Given the description of an element on the screen output the (x, y) to click on. 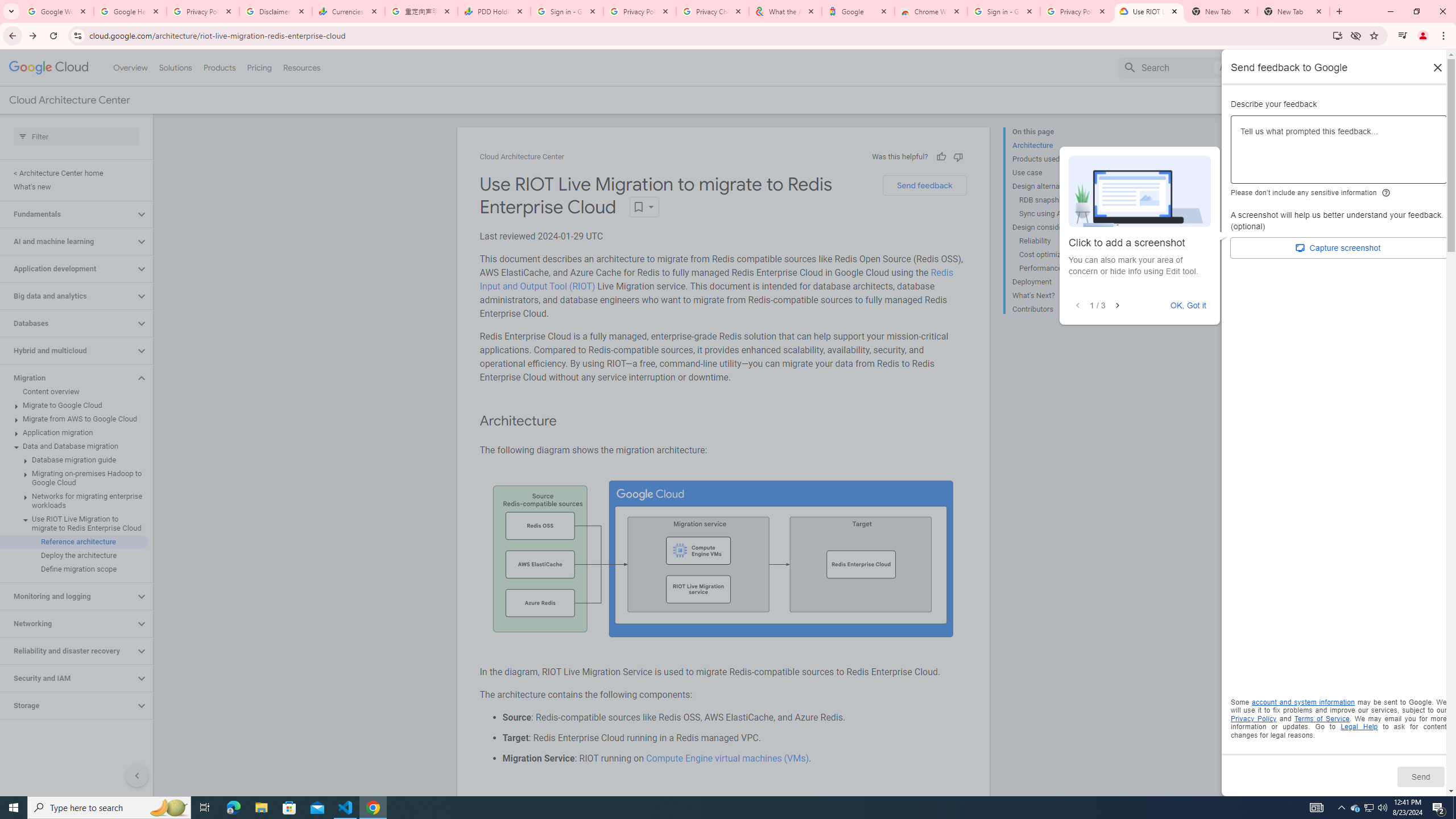
Sign in - Google Accounts (1003, 11)
New Tab (1293, 11)
Storage (67, 705)
Chrome Web Store - Color themes by Chrome (930, 11)
Security and IAM (67, 678)
Opens in a new tab. Legal Help (1358, 727)
Products (218, 67)
